Given the description of an element on the screen output the (x, y) to click on. 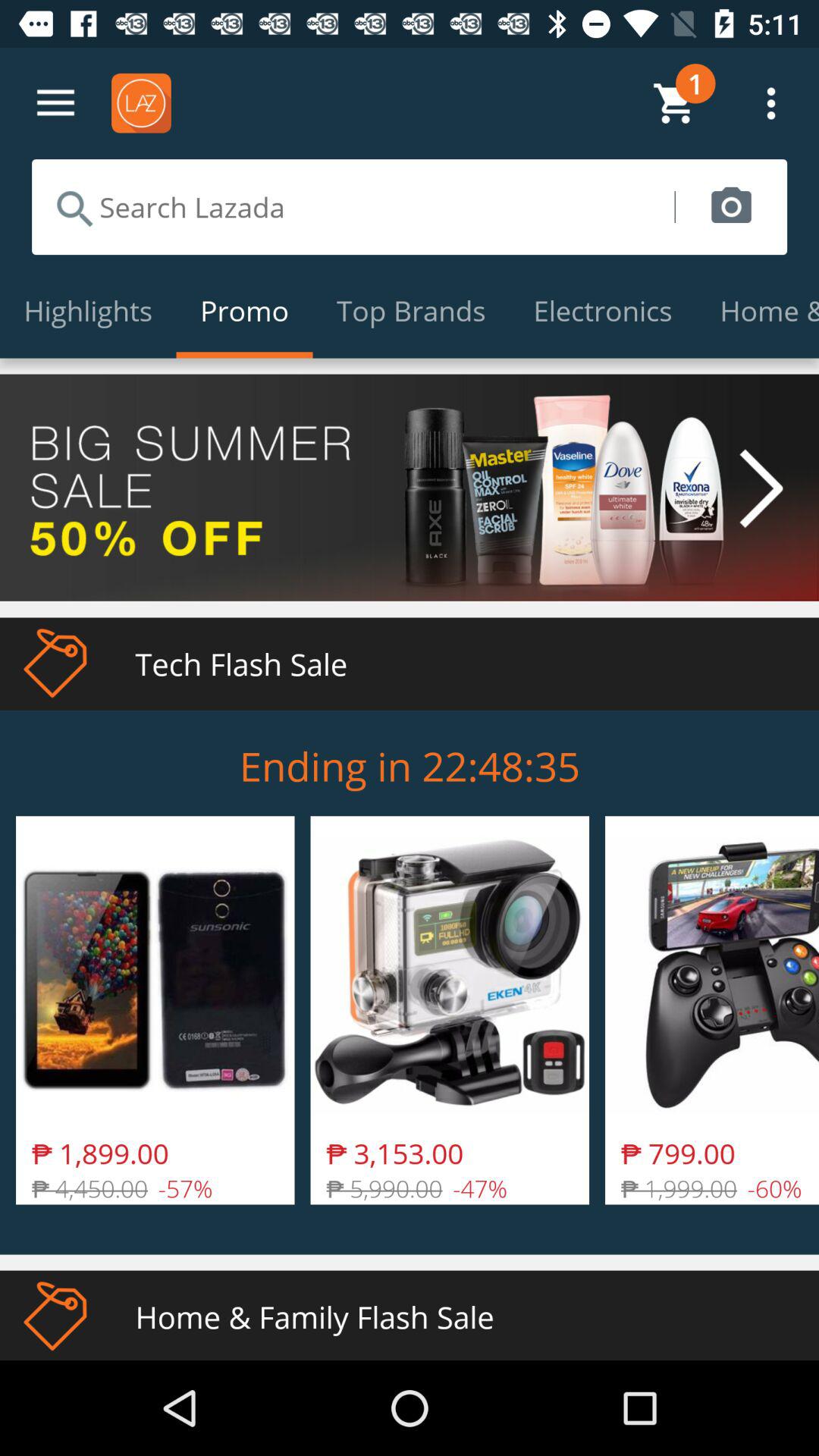
visit advertisement page (409, 487)
